Given the description of an element on the screen output the (x, y) to click on. 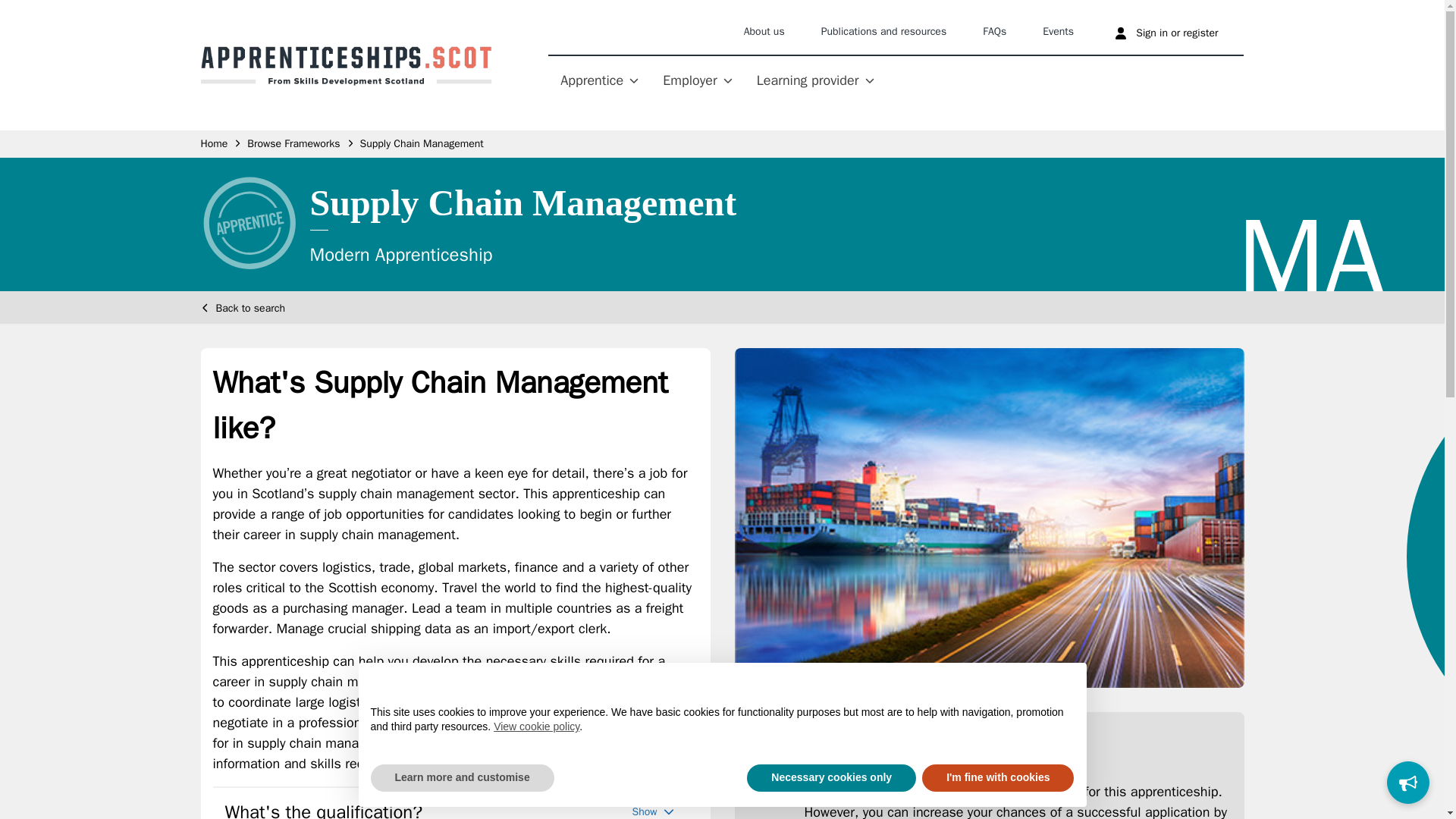
Apprentice (599, 83)
Sign in or register (1167, 33)
About us (764, 33)
Events (1058, 33)
Learning provider (815, 83)
Employer (697, 83)
Publications and resources (884, 33)
Browse frameworks (293, 143)
FAQs (993, 33)
Home (213, 143)
